Given the description of an element on the screen output the (x, y) to click on. 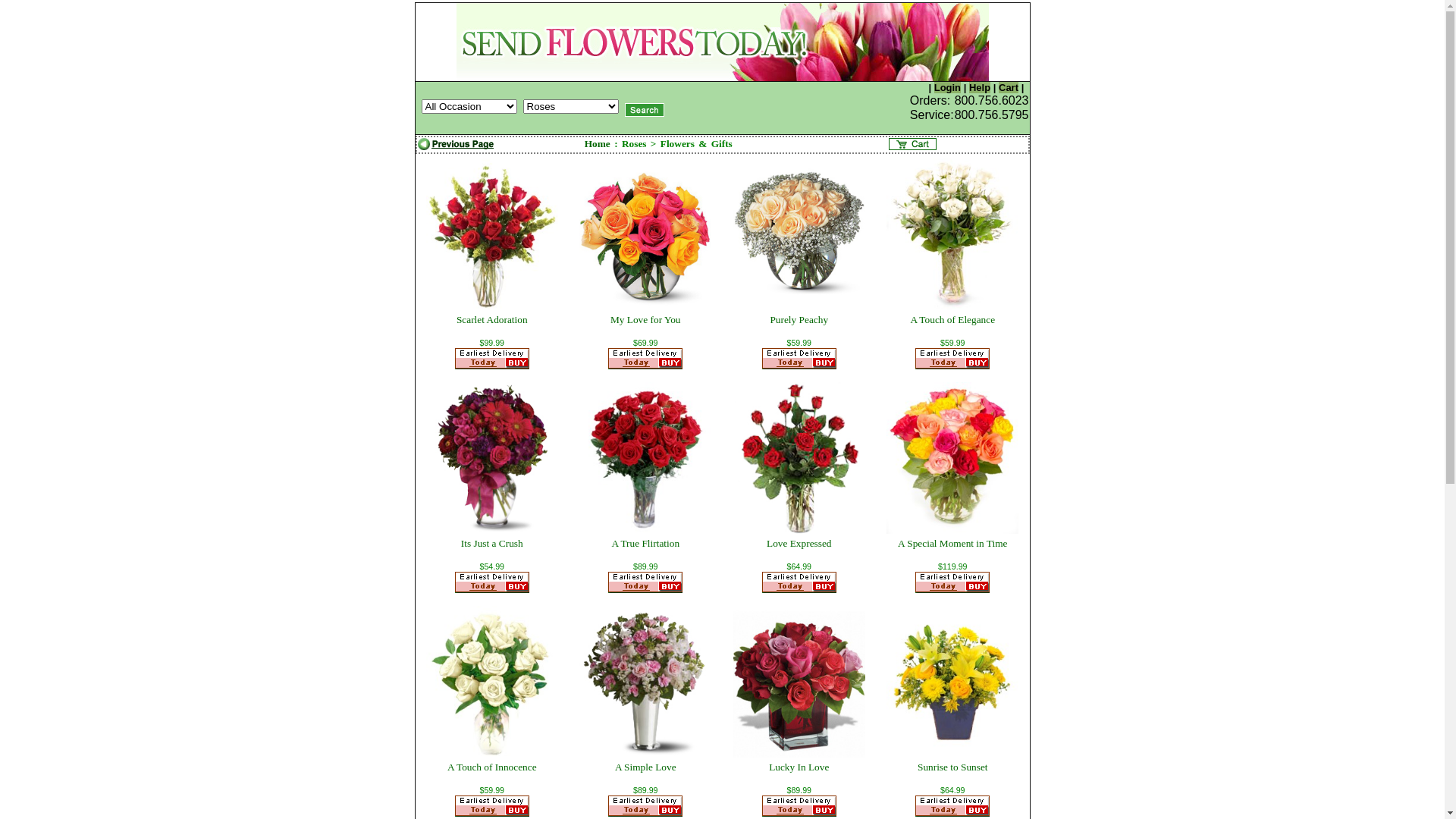
A Touch of Innocence Element type: text (491, 766)
A Touch of Elegance Element type: text (952, 319)
A Simple Love Element type: text (645, 766)
Love Expressed Element type: text (798, 543)
Its Just a Crush Element type: text (492, 543)
My Love for You Element type: text (645, 319)
Help Element type: text (979, 87)
Home Element type: text (597, 143)
Cart Element type: text (1008, 87)
A Special Moment in Time Element type: text (952, 543)
Sunrise to Sunset Element type: text (952, 766)
Scarlet Adoration Element type: text (491, 319)
Lucky In Love Element type: text (798, 766)
Login Element type: text (947, 87)
Purely Peachy Element type: text (798, 319)
A True Flirtation Element type: text (645, 543)
